Given the description of an element on the screen output the (x, y) to click on. 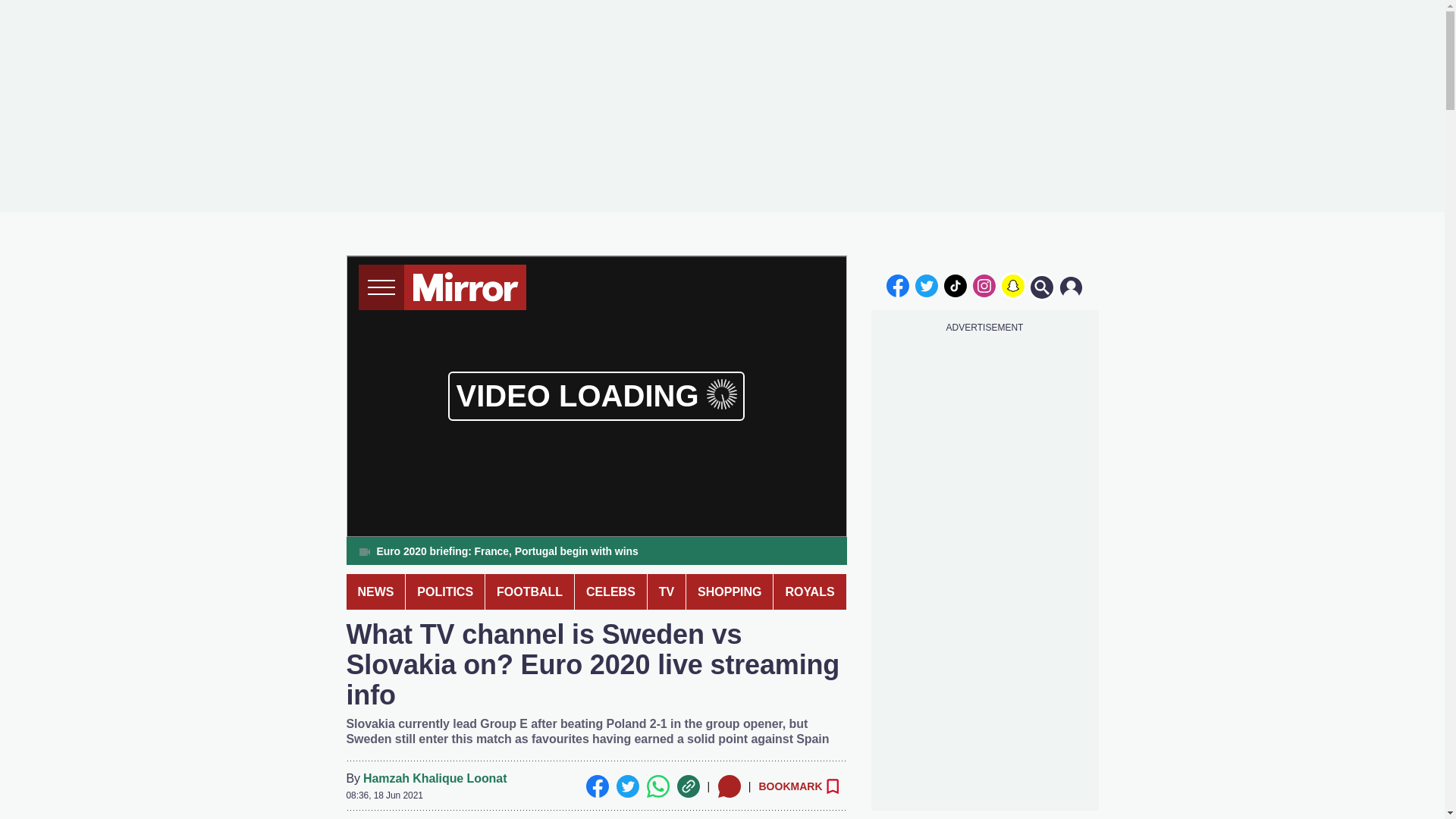
Twitter (627, 785)
tiktok (955, 285)
POLITICS (445, 591)
NEWS (375, 591)
instagram (984, 285)
Facebook (596, 785)
facebook (897, 285)
FOOTBALL (528, 591)
twitter (926, 285)
snapchat (1012, 285)
